Given the description of an element on the screen output the (x, y) to click on. 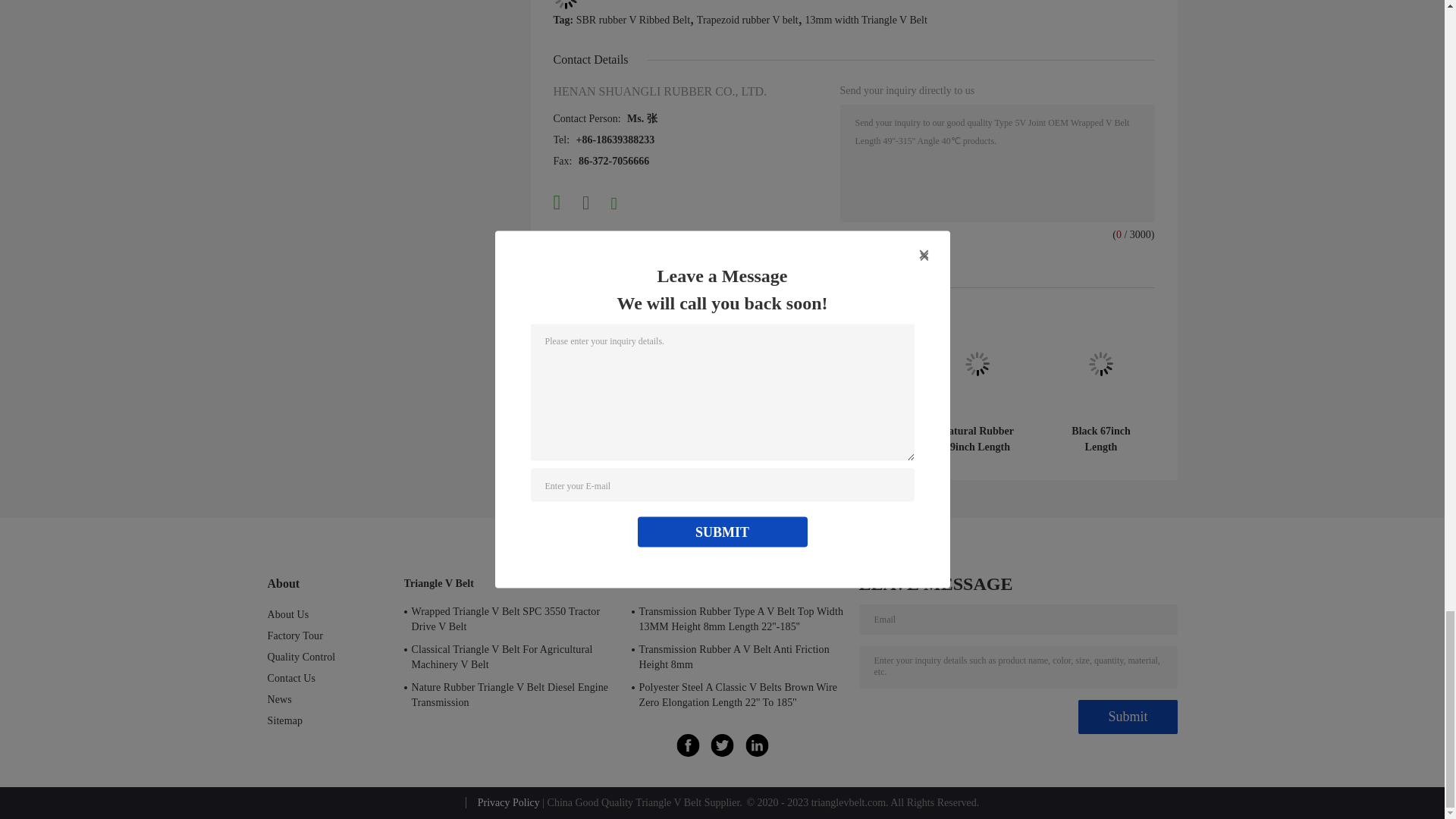
Submit (1127, 716)
Contact Now (886, 252)
